Given the description of an element on the screen output the (x, y) to click on. 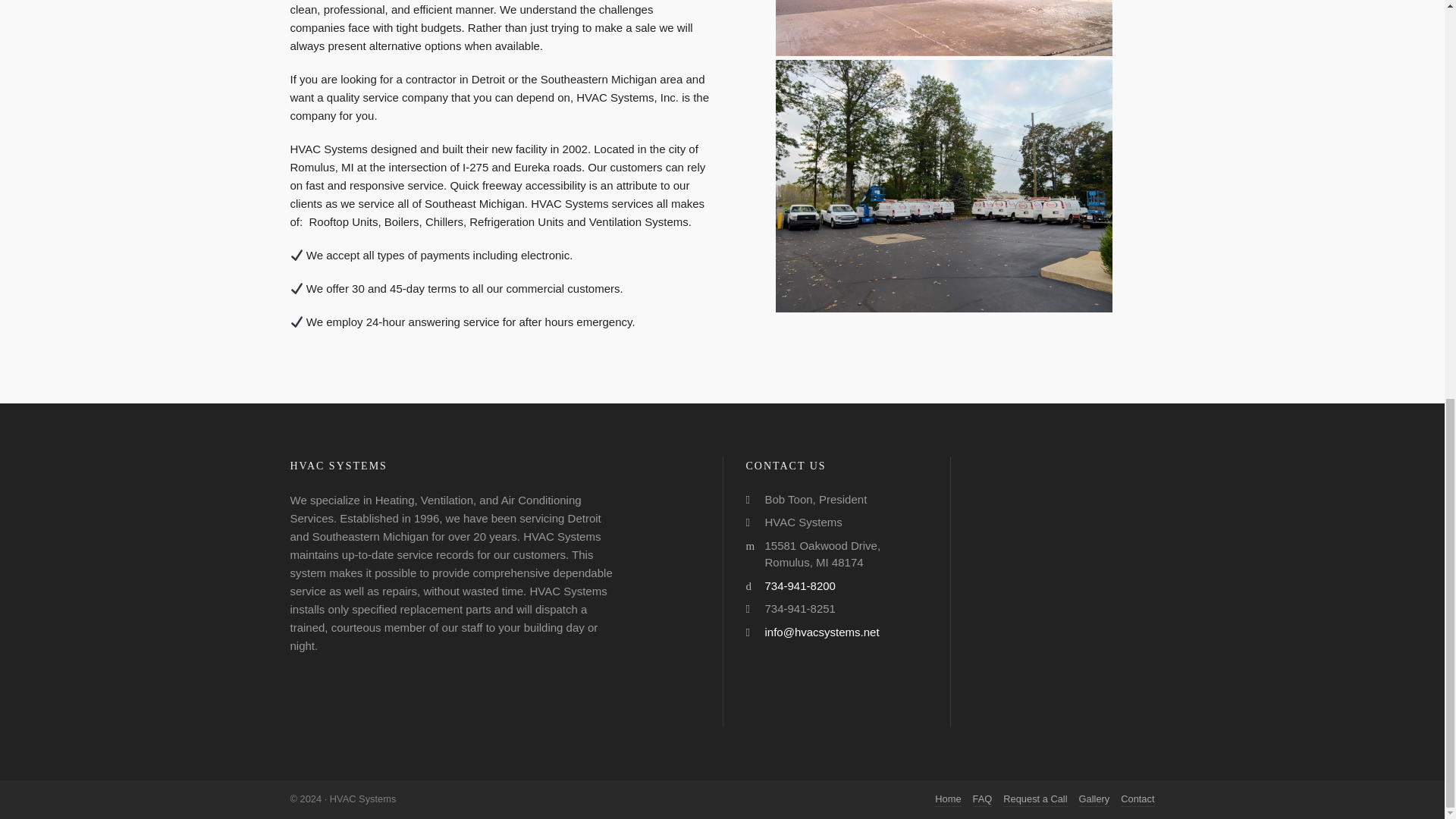
Contact (1137, 799)
Home (947, 799)
Request a Call (1035, 799)
FAQ (982, 799)
734-941-8200 (799, 584)
Gallery (1093, 799)
